Given the description of an element on the screen output the (x, y) to click on. 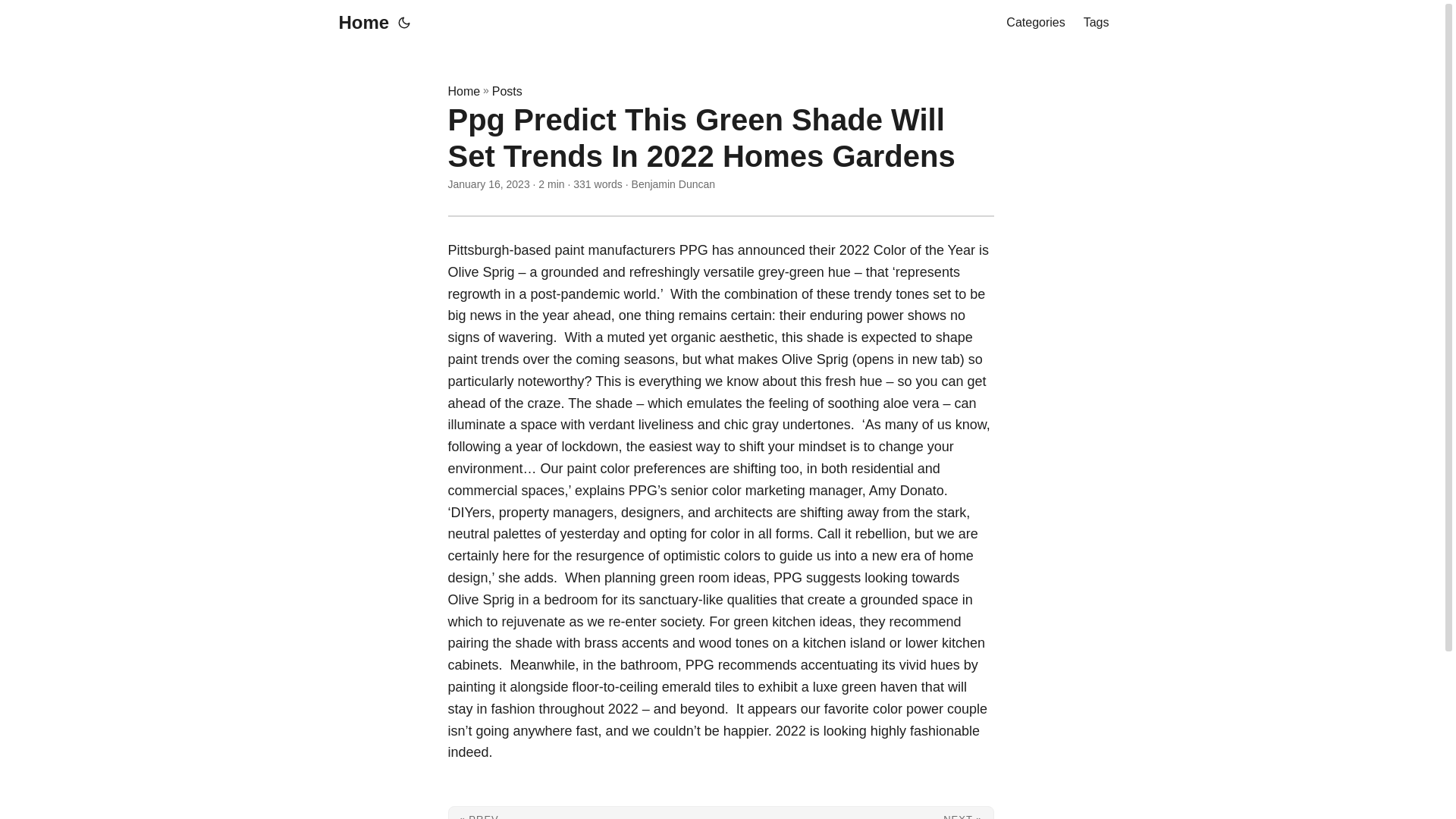
Home (463, 91)
Posts (507, 91)
Categories (1035, 22)
Categories (1035, 22)
Home (359, 22)
